Given the description of an element on the screen output the (x, y) to click on. 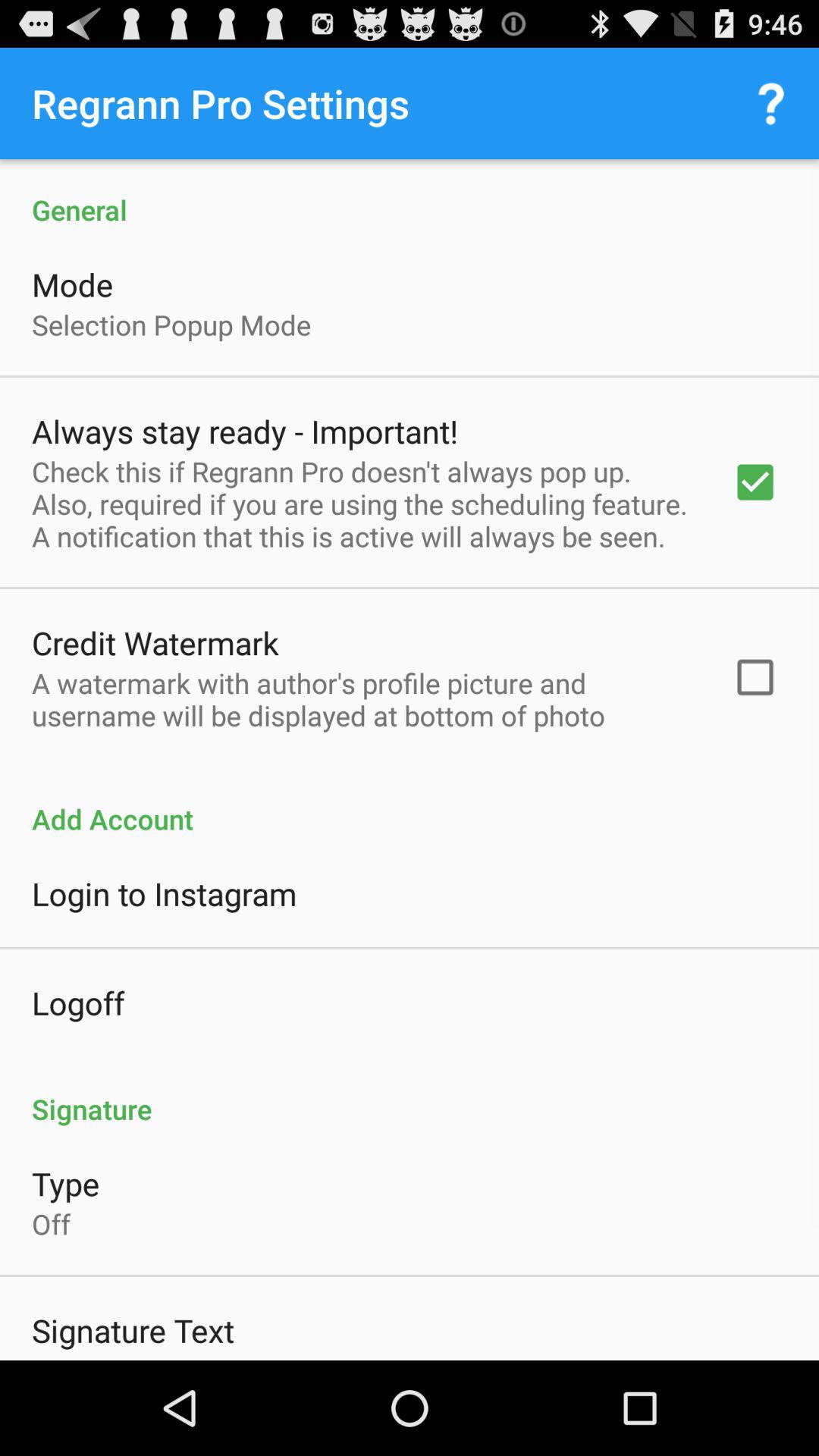
jump until logoff icon (77, 1002)
